Given the description of an element on the screen output the (x, y) to click on. 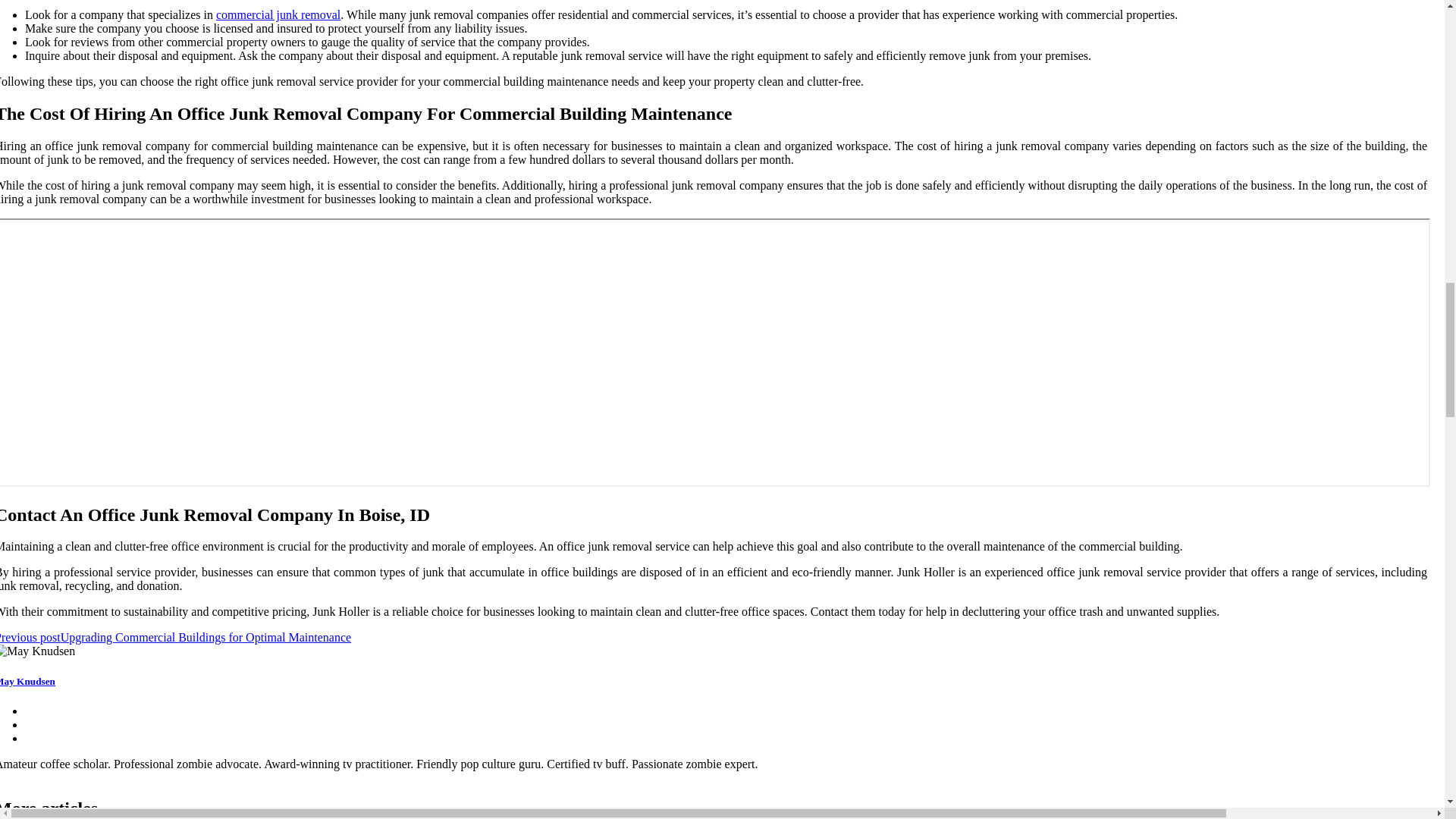
commercial junk removal (277, 14)
May Knudsen (27, 681)
